Given the description of an element on the screen output the (x, y) to click on. 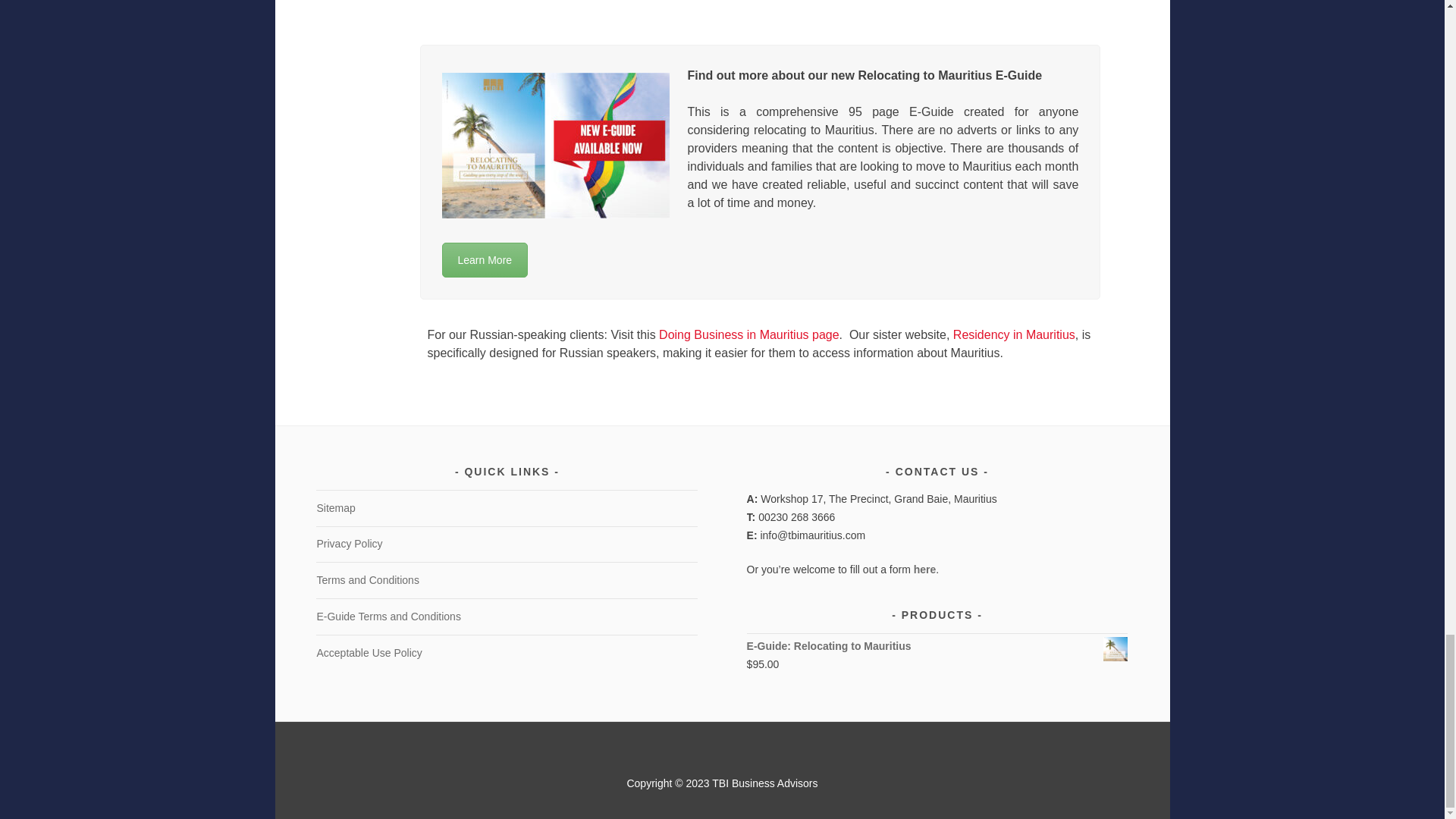
Learn More (484, 259)
Doing Business in Mauritius page (748, 334)
Relocating to Mauritius - E-Guide (484, 259)
